Given the description of an element on the screen output the (x, y) to click on. 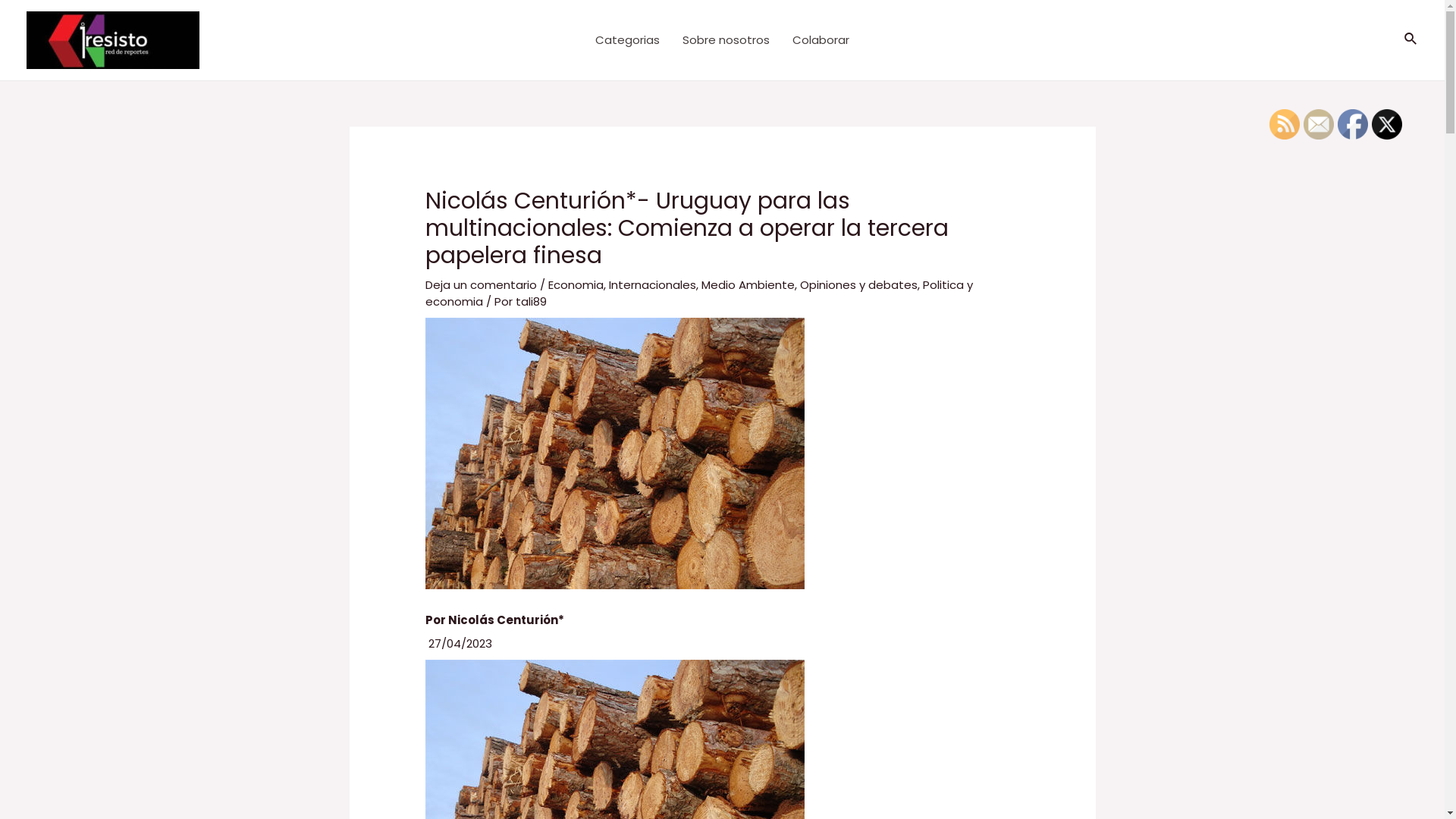
Sobre nosotros Element type: text (726, 40)
Buscar Element type: text (1411, 39)
Economia Element type: text (575, 284)
Internacionales Element type: text (652, 284)
Opiniones y debates Element type: text (858, 284)
Politica y economia Element type: text (698, 292)
Colaborar Element type: text (820, 40)
Follow by Email Element type: hover (1318, 124)
Categorias Element type: text (627, 40)
Facebook Element type: hover (1352, 124)
Medio Ambiente Element type: text (747, 284)
Deja un comentario Element type: text (480, 284)
RSS Element type: hover (1284, 124)
Twitter Element type: hover (1386, 124)
tali89 Element type: text (530, 301)
